Given the description of an element on the screen output the (x, y) to click on. 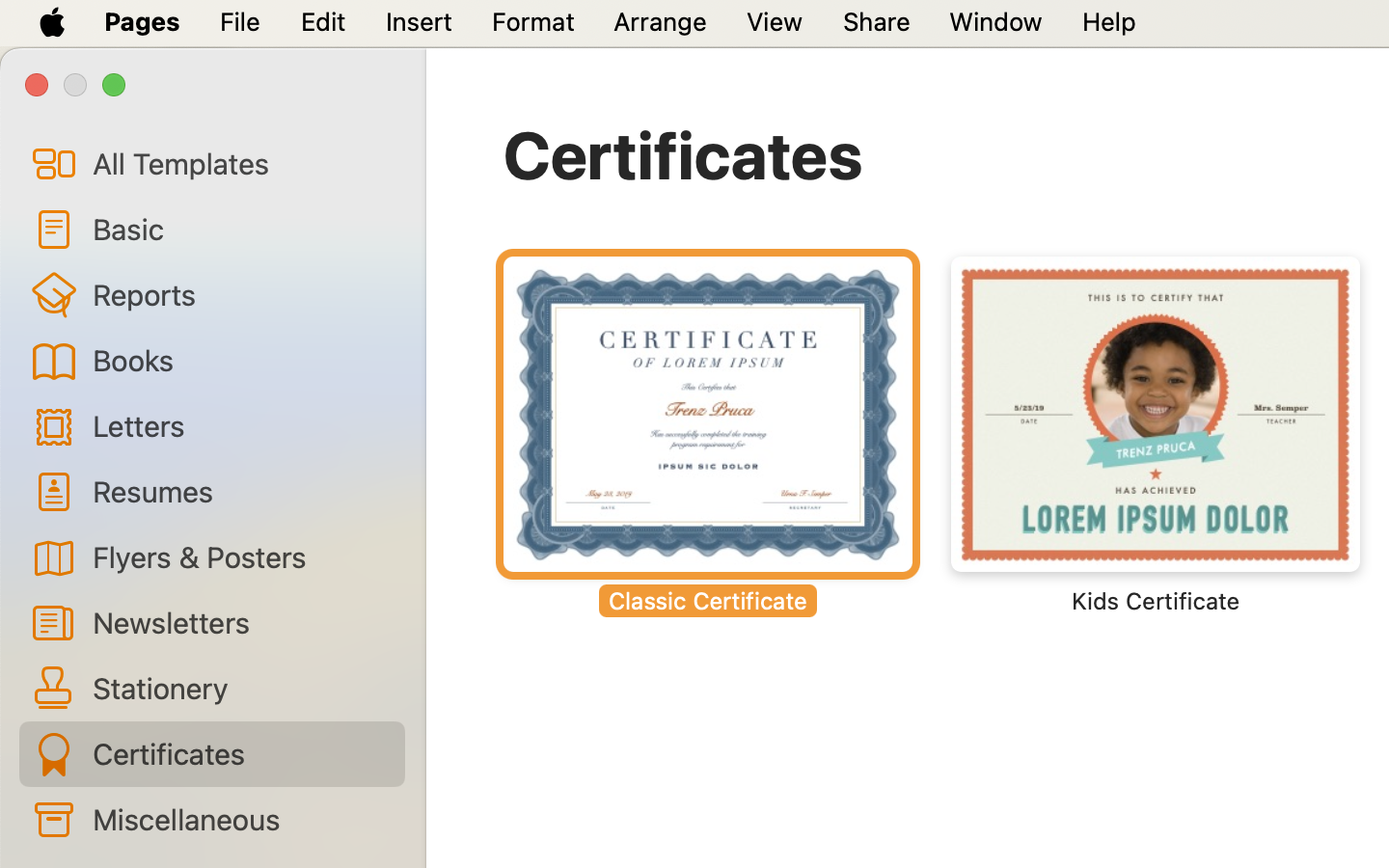
All Templates Element type: AXStaticText (240, 162)
Resumes Element type: AXStaticText (240, 490)
Books Element type: AXStaticText (240, 359)
